Given the description of an element on the screen output the (x, y) to click on. 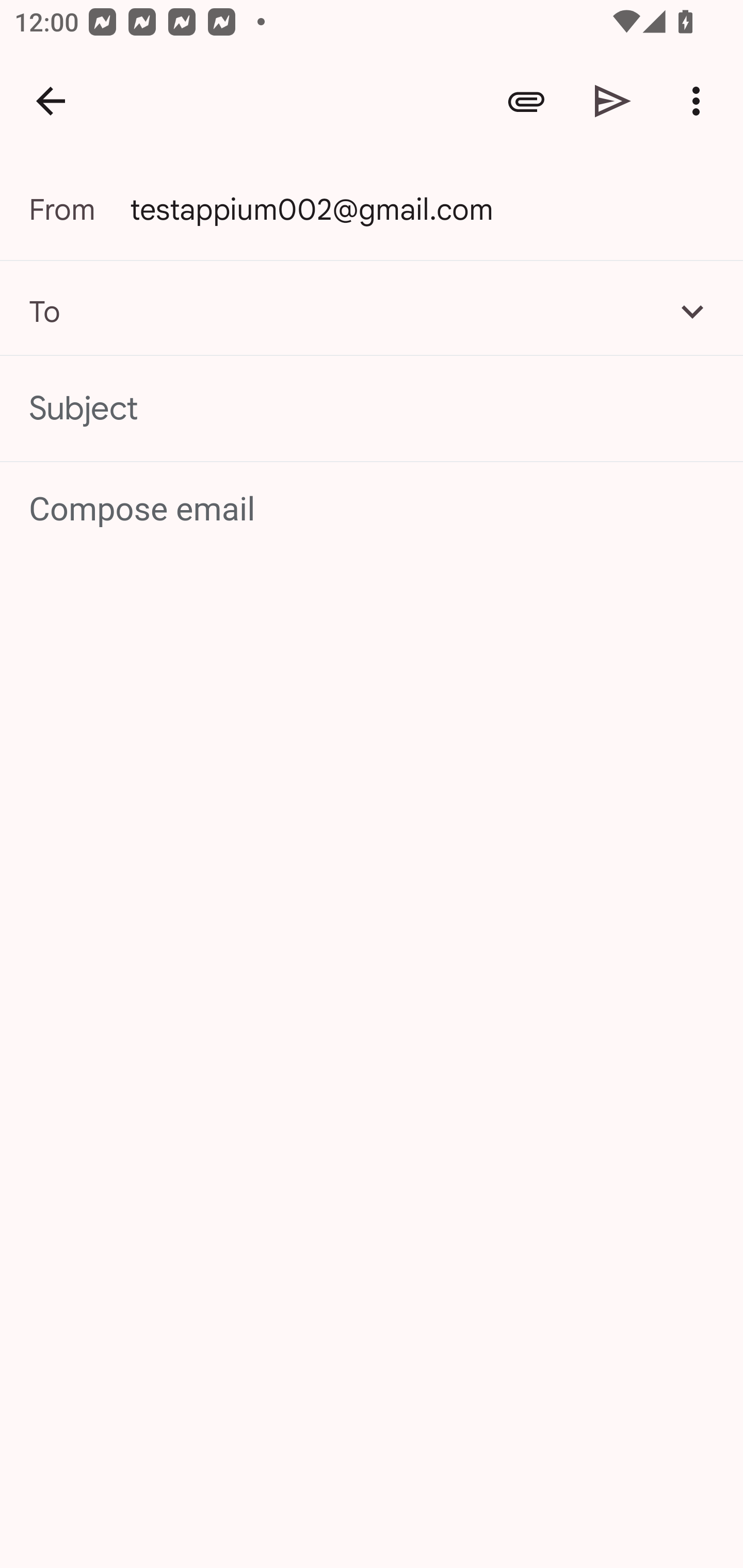
Navigate up (50, 101)
Attach file (525, 101)
Send (612, 101)
More options (699, 101)
From (79, 209)
Add Cc/Bcc (692, 311)
Subject (371, 407)
